Given the description of an element on the screen output the (x, y) to click on. 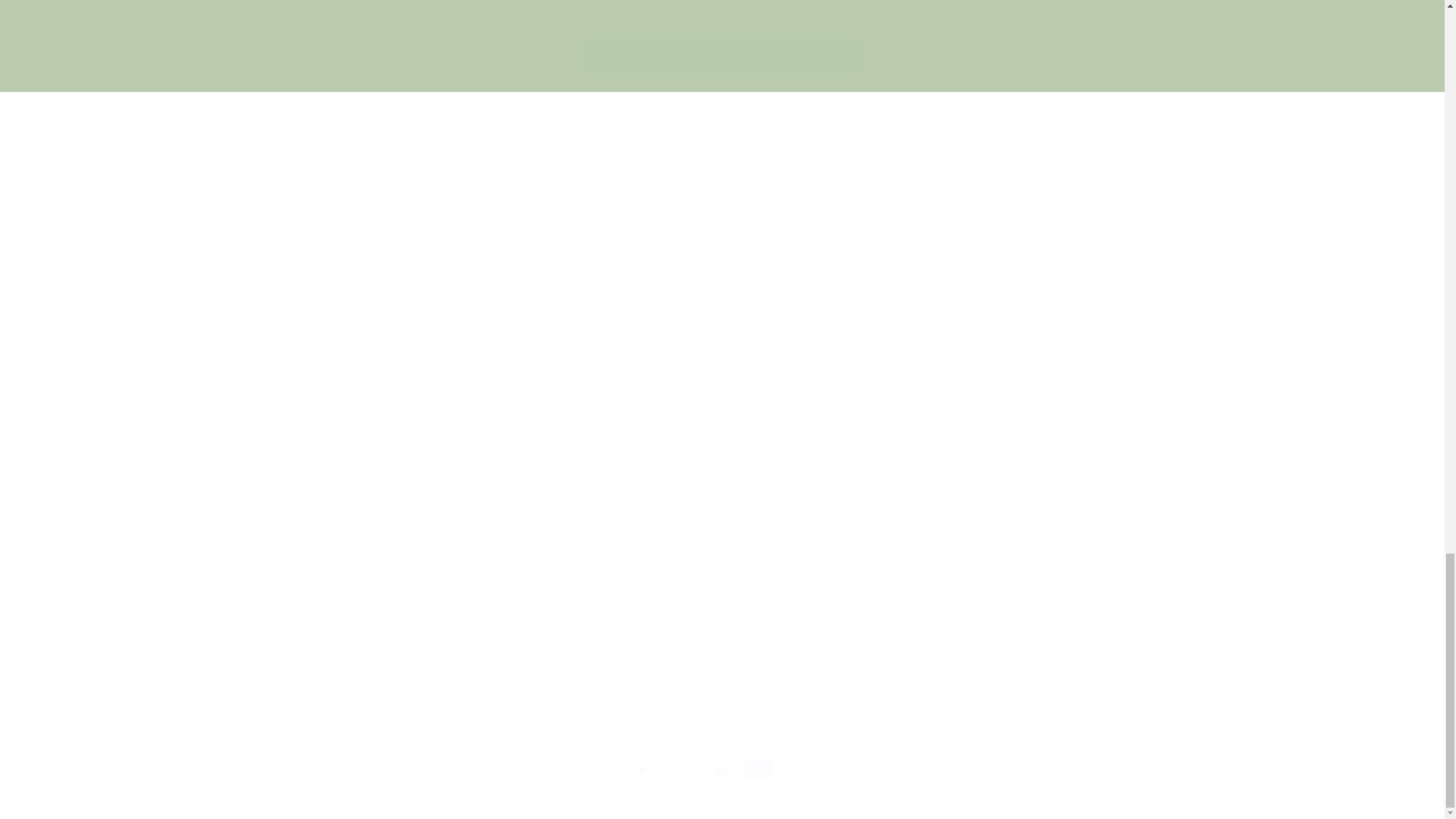
Email (1004, 513)
